Given the description of an element on the screen output the (x, y) to click on. 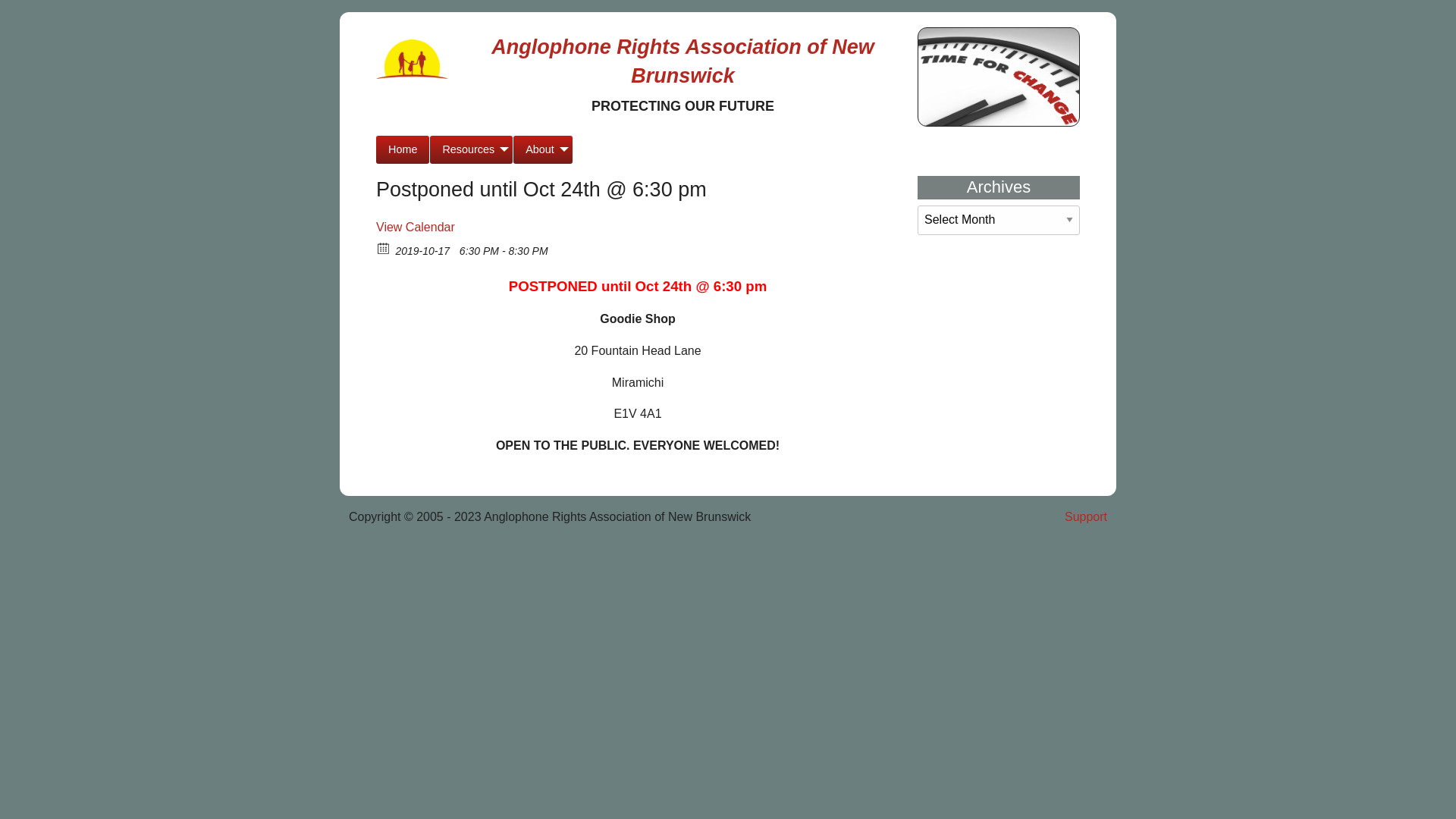
Anglophone Rights Association of New Brunswick Element type: text (682, 61)
Support Element type: text (1005, 510)
Resources Element type: text (470, 149)
Support Element type: text (1085, 516)
Home Element type: text (402, 149)
Date Element type: hover (384, 247)
About Element type: text (542, 149)
View Calendar Element type: text (415, 226)
